Given the description of an element on the screen output the (x, y) to click on. 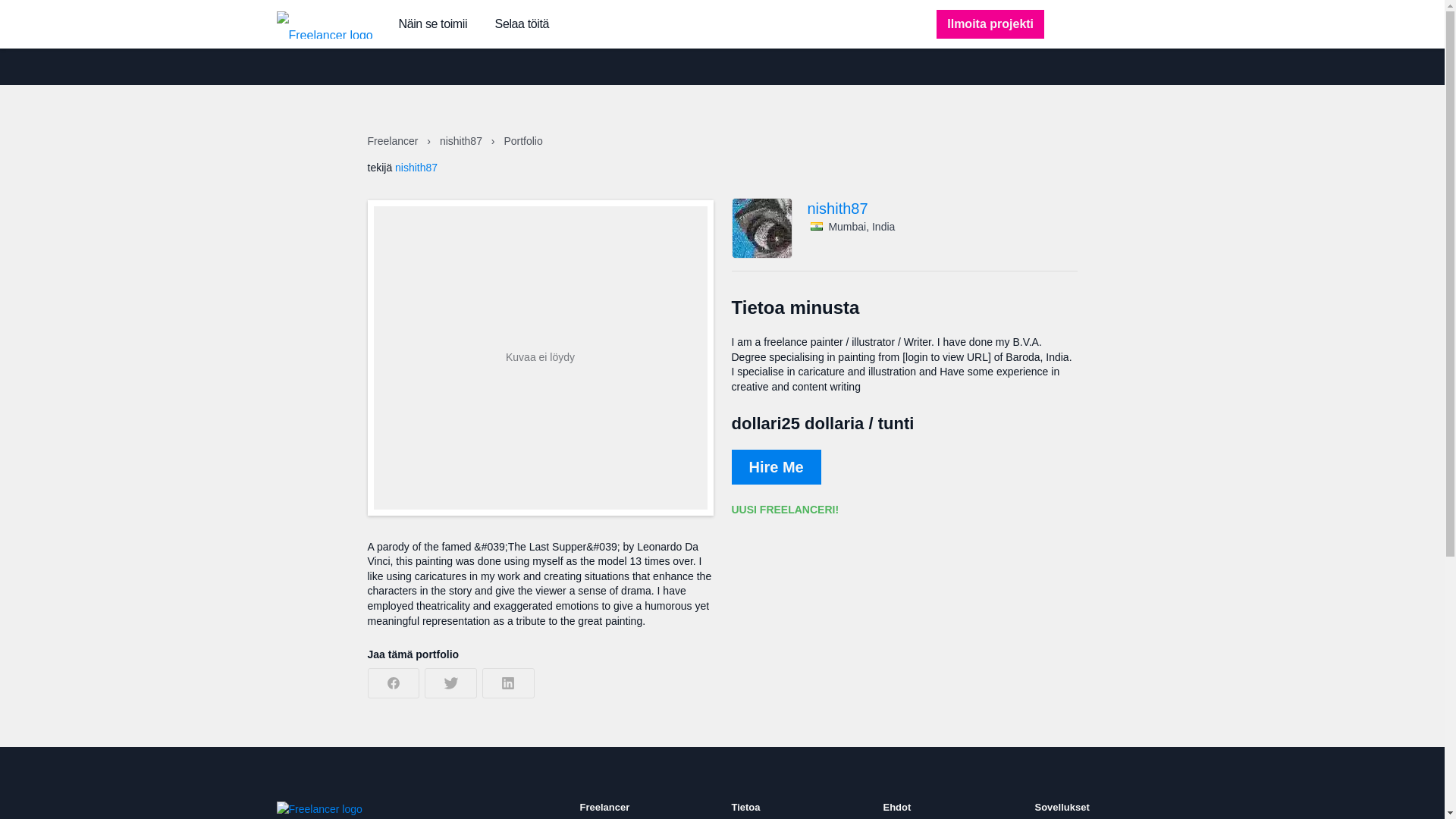
Freelancer (393, 141)
nishith87 (461, 141)
Portfolio (522, 141)
Jaa Facebookissa (392, 683)
Flag of India (815, 225)
nishith87 (416, 167)
nishith87 (941, 208)
Hire Me (775, 466)
Ilmoita projekti (989, 23)
